Given the description of an element on the screen output the (x, y) to click on. 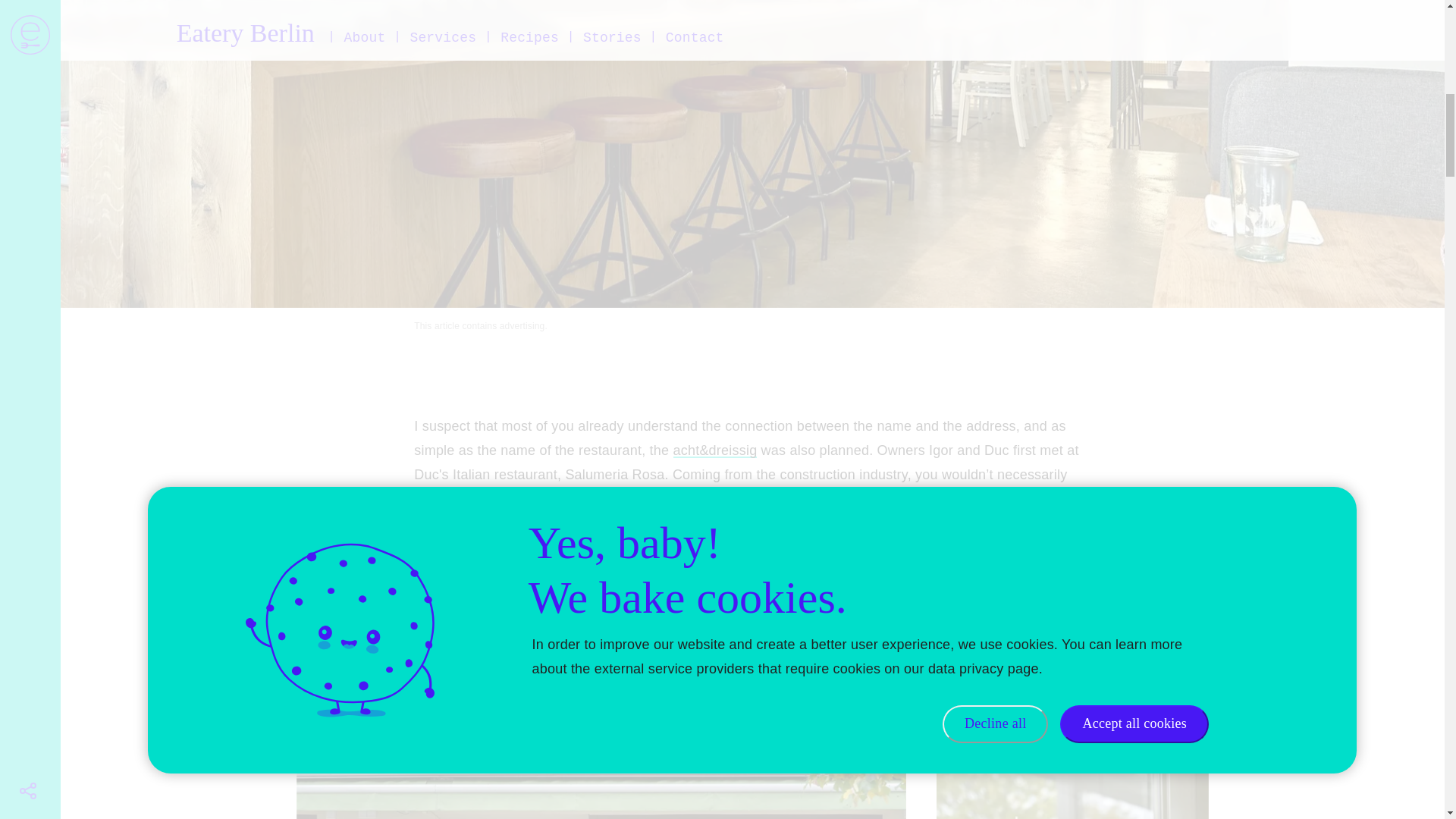
exterior-of-restaurant-achtunddreissig-berlin (602, 769)
exterior-of-restaurant-achtunddreissig-berlin (1072, 769)
